Given the description of an element on the screen output the (x, y) to click on. 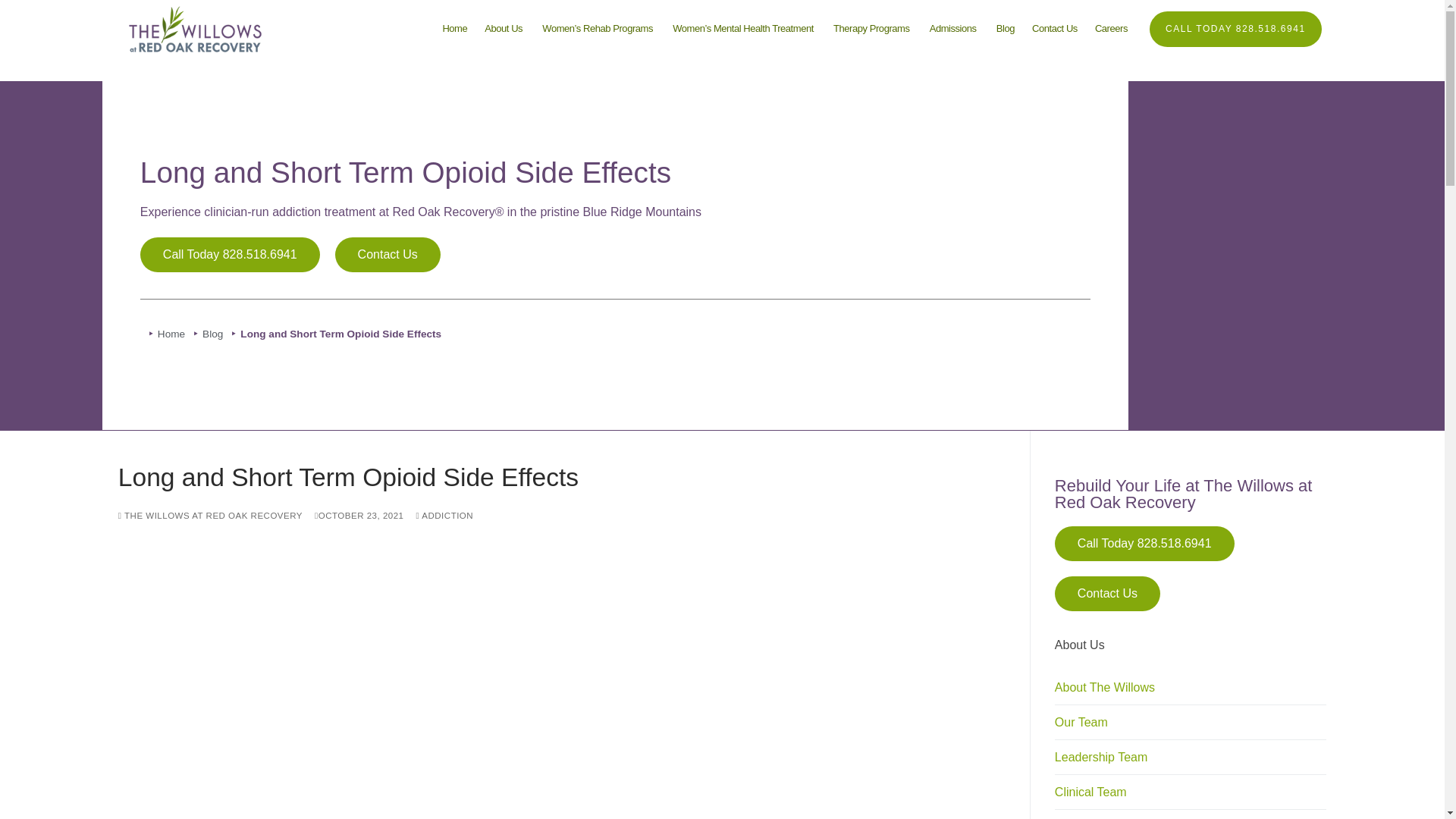
Home (872, 28)
